Given the description of an element on the screen output the (x, y) to click on. 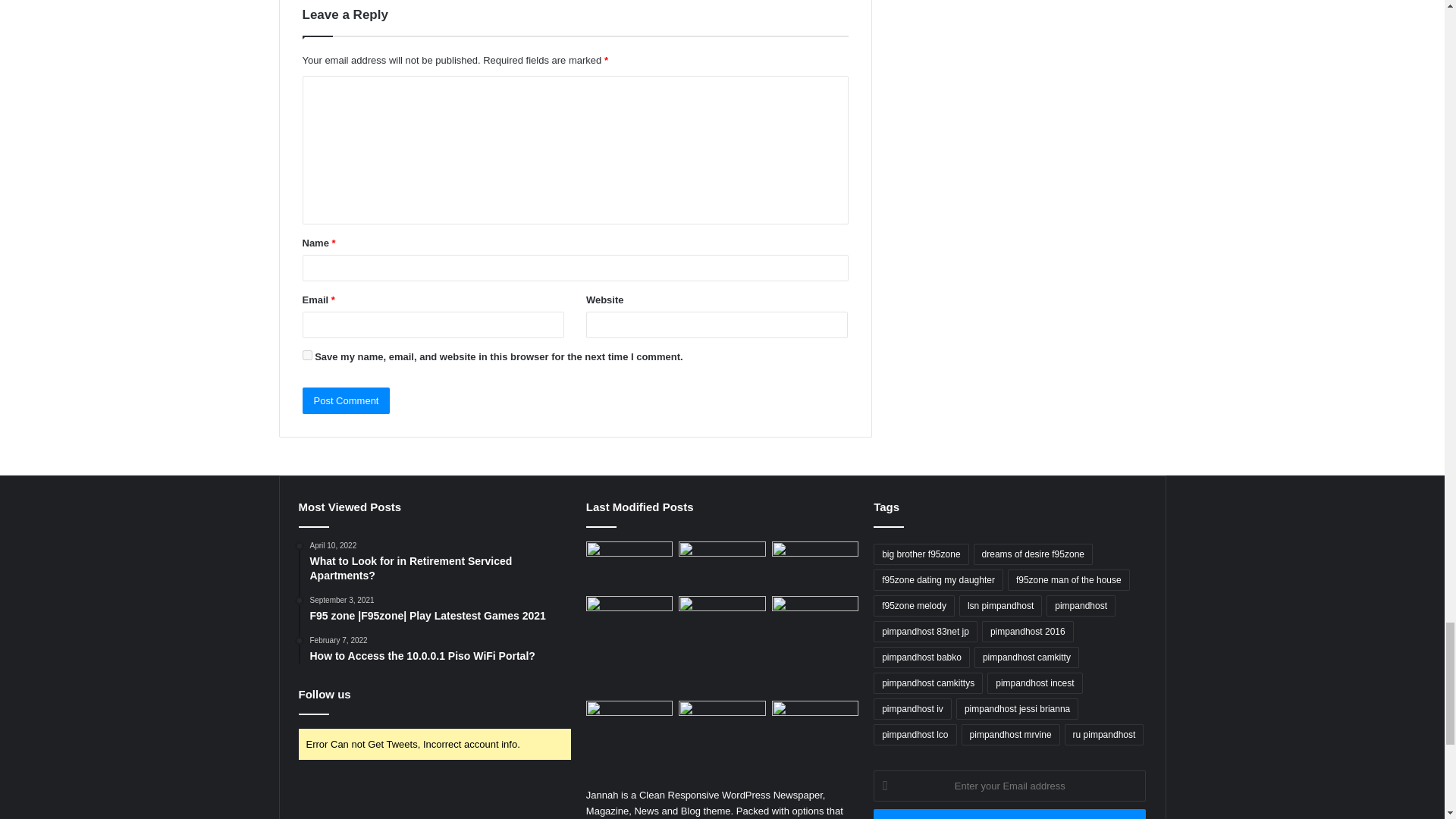
yes (306, 355)
Post Comment (345, 400)
Subscribe (1009, 814)
